Given the description of an element on the screen output the (x, y) to click on. 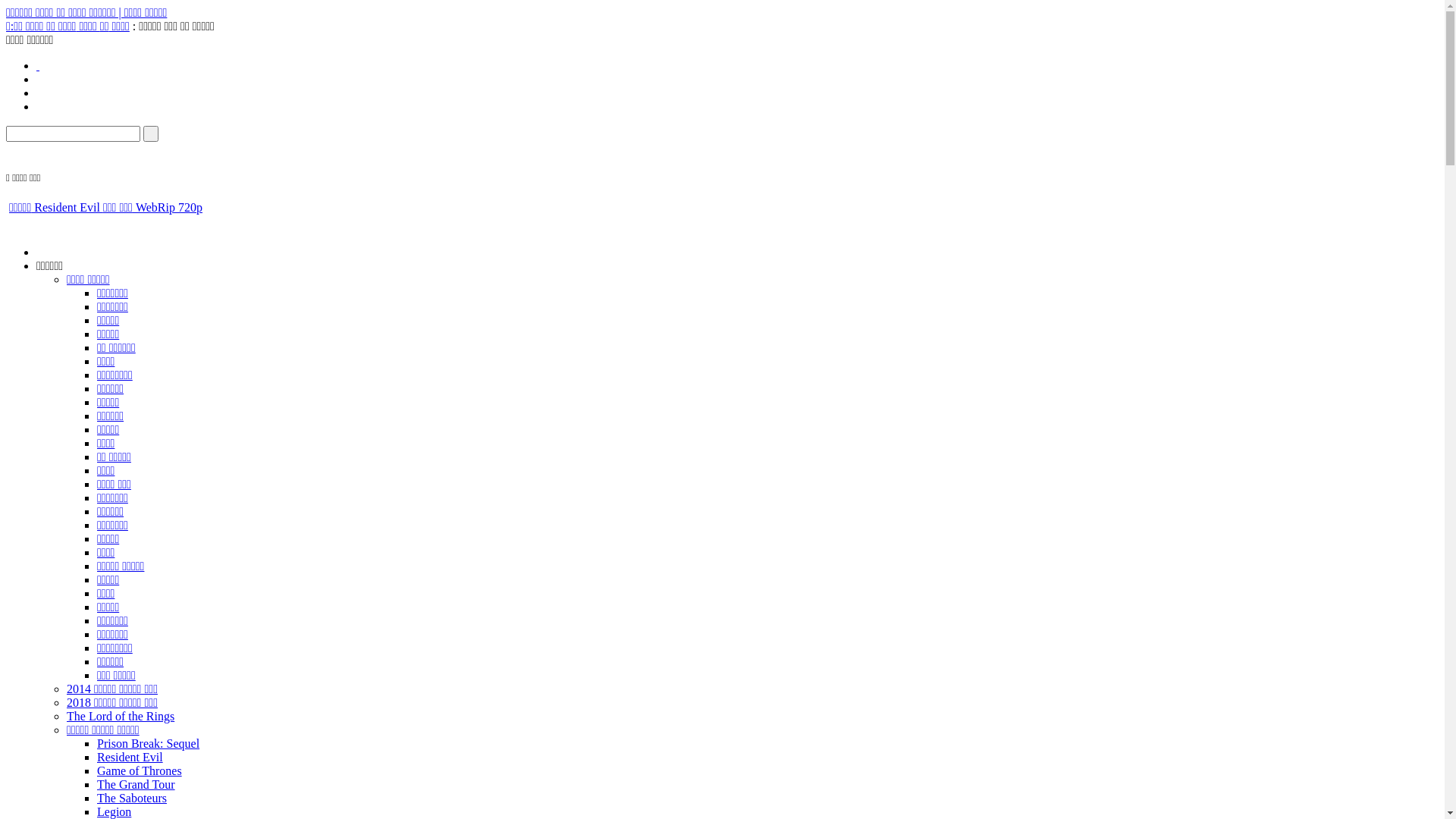
The Lord of the Rings Element type: text (120, 715)
  Element type: text (150, 133)
The Grand Tour Element type: text (136, 784)
Resident Evil Element type: text (130, 756)
Legion Element type: text (114, 811)
Game of Thrones Element type: text (139, 770)
Prison Break: Sequel Element type: text (148, 743)
  Element type: text (37, 65)
The Saboteurs Element type: text (131, 797)
